Given the description of an element on the screen output the (x, y) to click on. 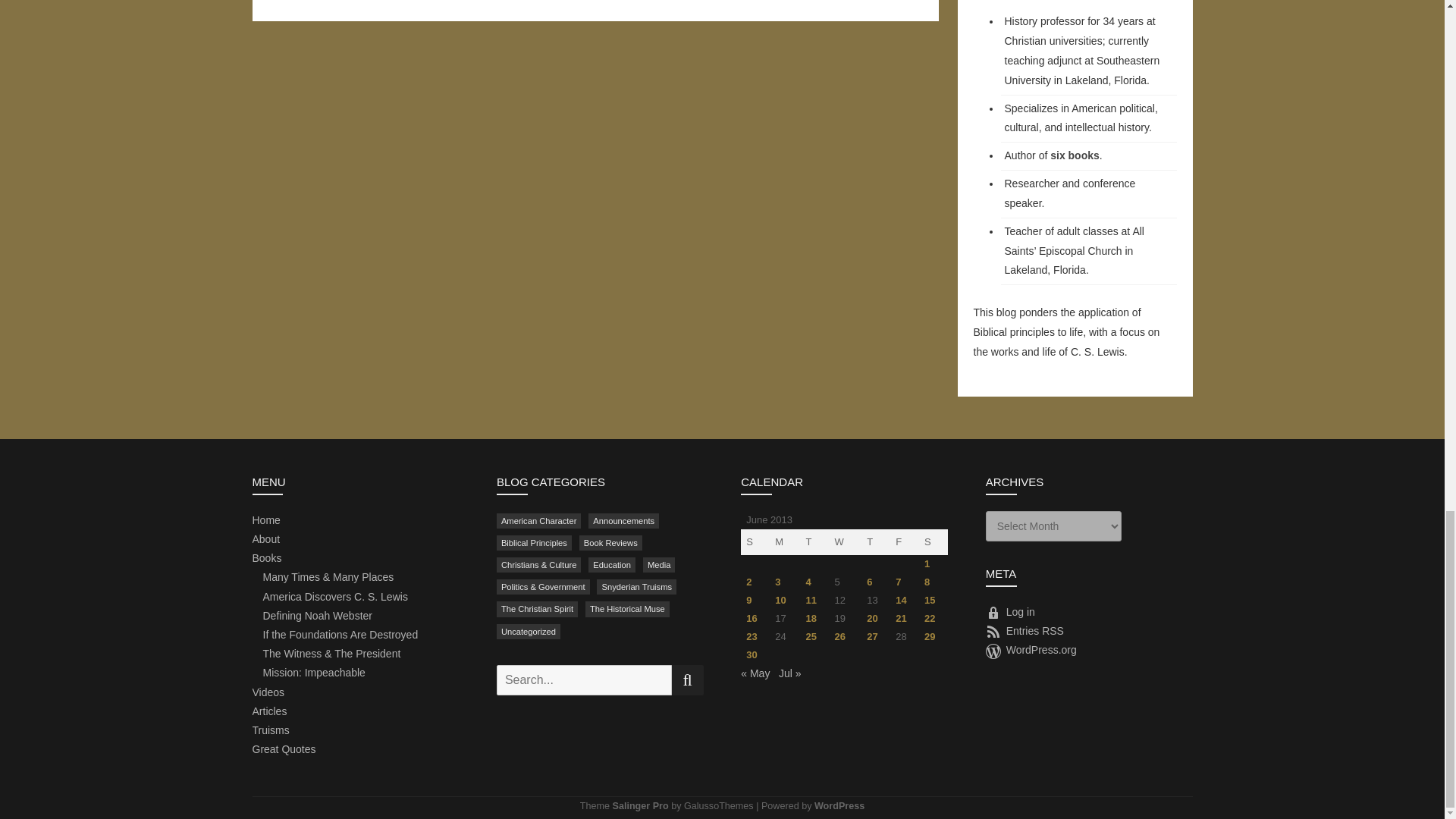
Sunday (755, 542)
Friday (903, 542)
Search for: (583, 680)
Thursday (875, 542)
Wednesday (844, 542)
Monday (784, 542)
Saturday (932, 542)
Semantic Personal Publishing Platform (838, 805)
Tuesday (814, 542)
